Given the description of an element on the screen output the (x, y) to click on. 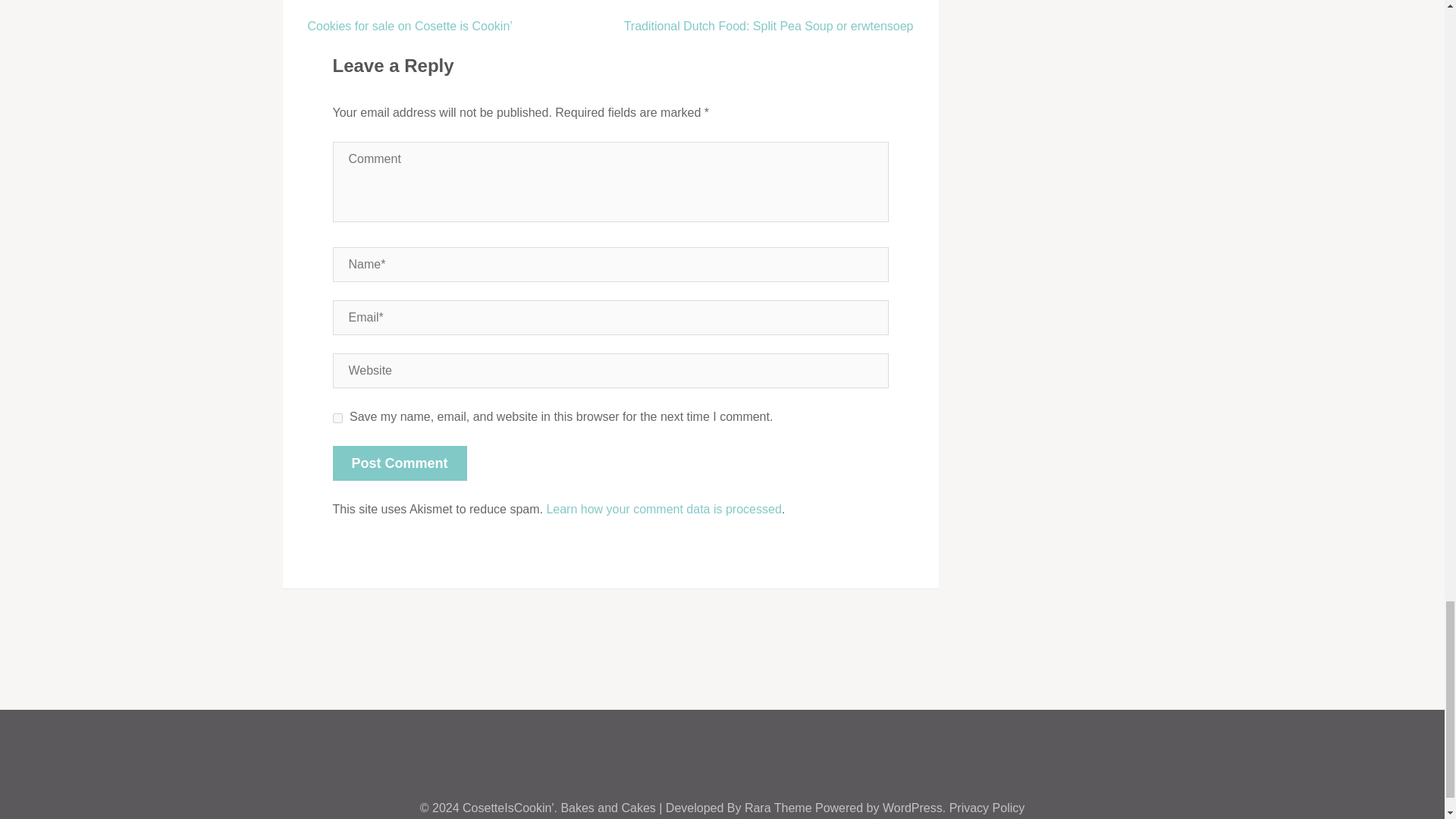
Post Comment (398, 462)
yes (336, 418)
CosetteIsCookin' (508, 807)
Learn how your comment data is processed (663, 508)
Post Comment (398, 462)
Traditional Dutch Food: Split Pea Soup or erwtensoep (769, 25)
